Given the description of an element on the screen output the (x, y) to click on. 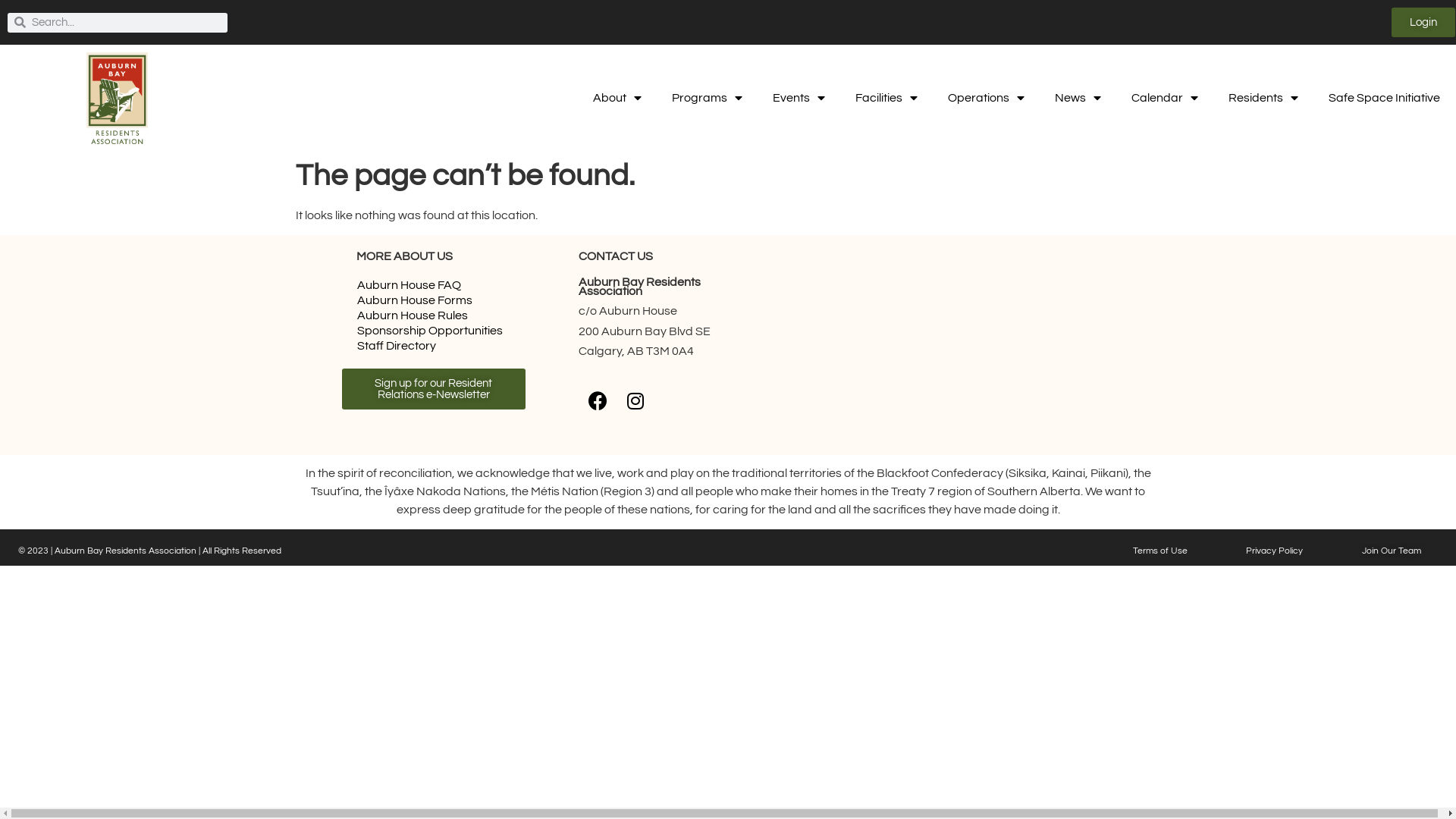
Events Element type: text (798, 97)
Terms of Use Element type: text (1159, 550)
Auburn House Forms Element type: text (433, 299)
Privacy Policy Element type: text (1273, 550)
Auburn House Rules Element type: text (433, 315)
Programs Element type: text (706, 97)
Login Element type: text (1423, 22)
Sponsorship Opportunities Element type: text (433, 330)
Staff Directory Element type: text (433, 345)
200 Auburn Bay Blvd SE Element type: hover (925, 344)
Residents Element type: text (1263, 97)
Auburn House FAQ Element type: text (433, 284)
Calendar Element type: text (1164, 97)
Join Our Team Element type: text (1391, 550)
Sign up for our Resident Relations e-Newsletter Element type: text (433, 388)
Safe Space Initiative Element type: text (1384, 97)
Facilities Element type: text (886, 97)
About Element type: text (616, 97)
Operations Element type: text (985, 97)
News Element type: text (1077, 97)
